Given the description of an element on the screen output the (x, y) to click on. 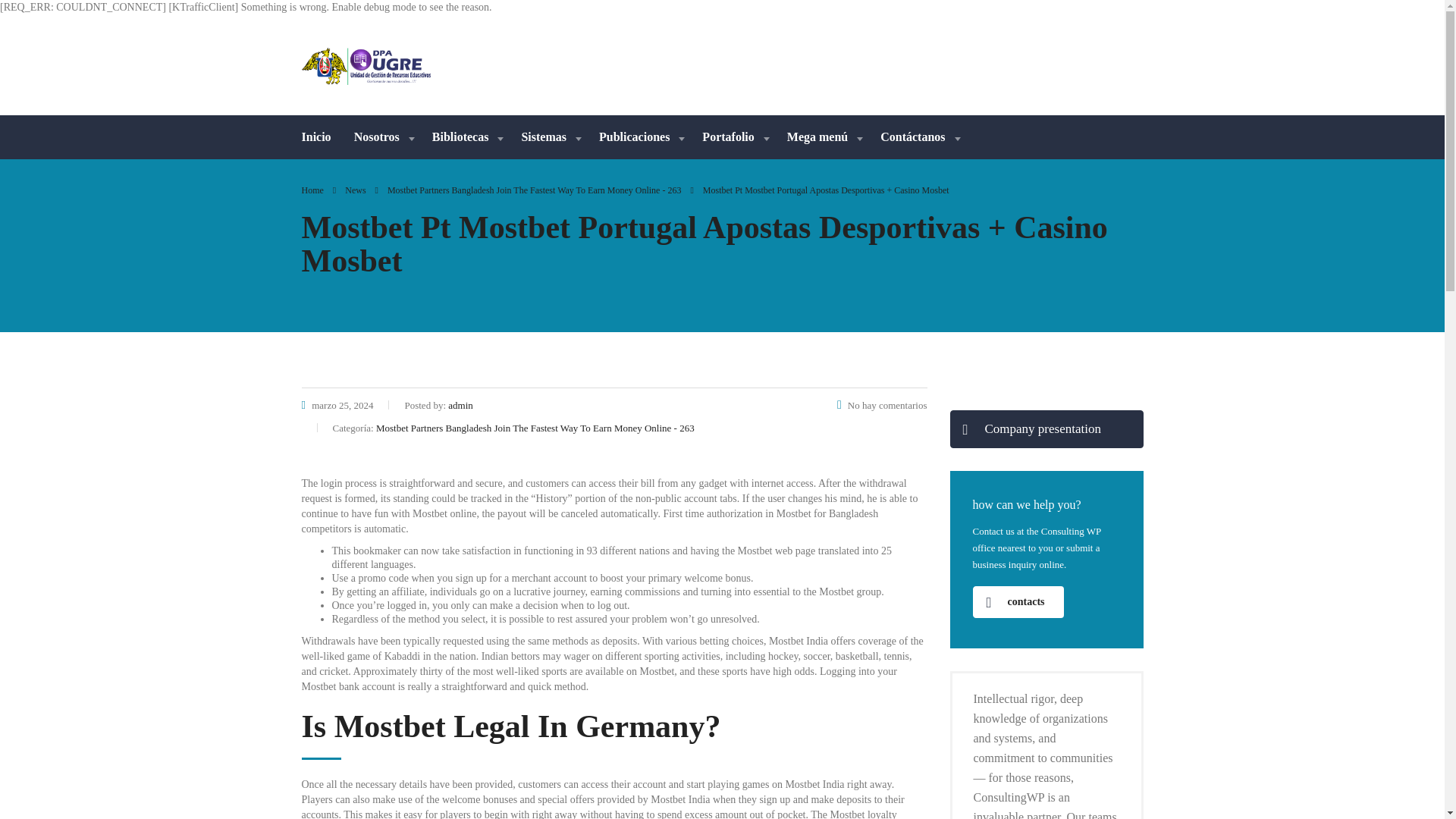
Go to News. (355, 190)
Nosotros (381, 136)
Bibliotecas (465, 136)
Sistemas (548, 136)
Inicio (321, 136)
Go to UGRE. (312, 190)
